Given the description of an element on the screen output the (x, y) to click on. 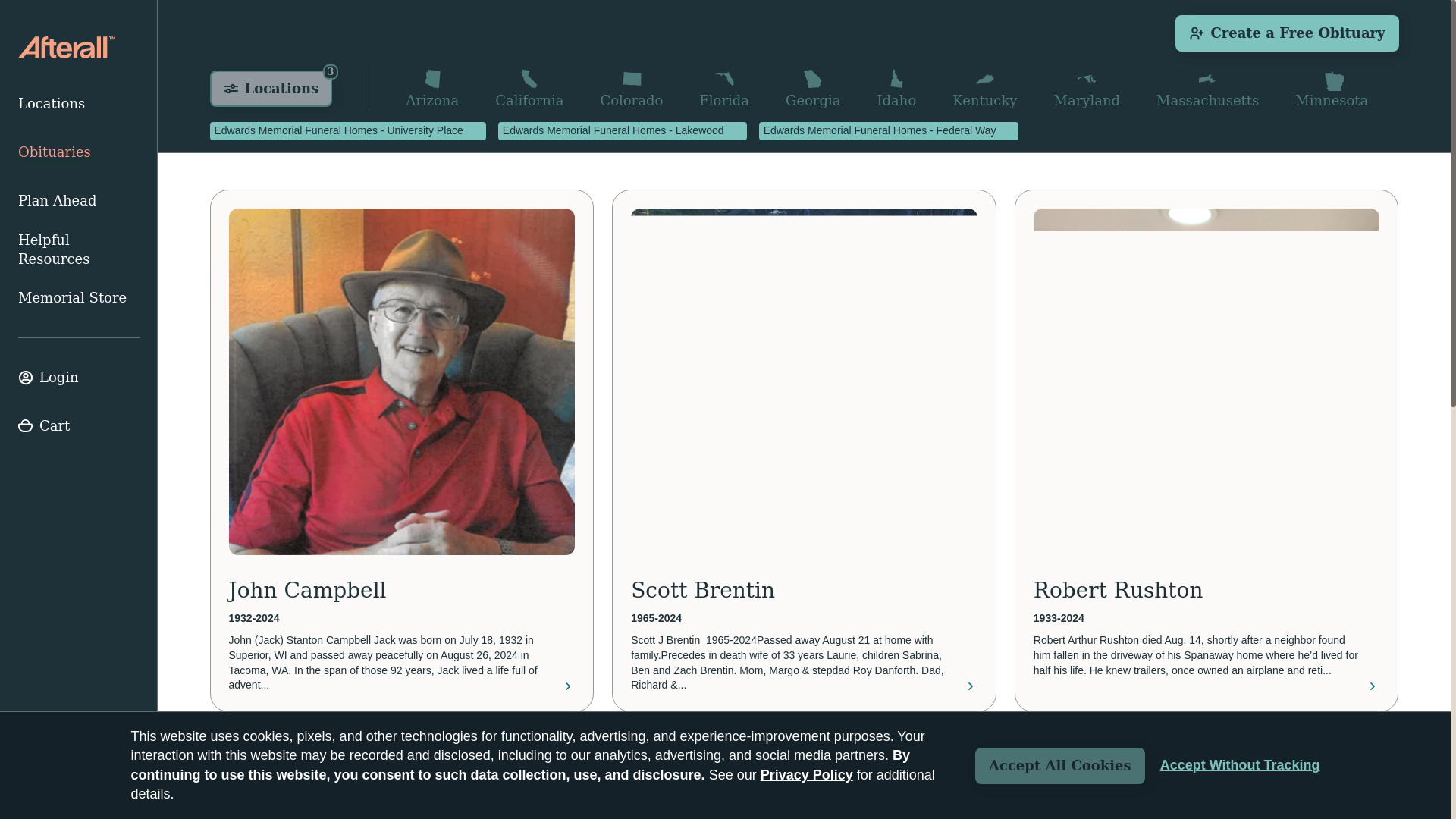
Idaho (895, 87)
Massachusetts (1207, 87)
Cart (78, 426)
Refine by State: Arizona (432, 87)
Home page (66, 47)
Arizona (432, 87)
Colorado (630, 87)
Refine by State: Colorado (630, 87)
Obituaries (78, 151)
Refine by State: Florida (723, 87)
